Given the description of an element on the screen output the (x, y) to click on. 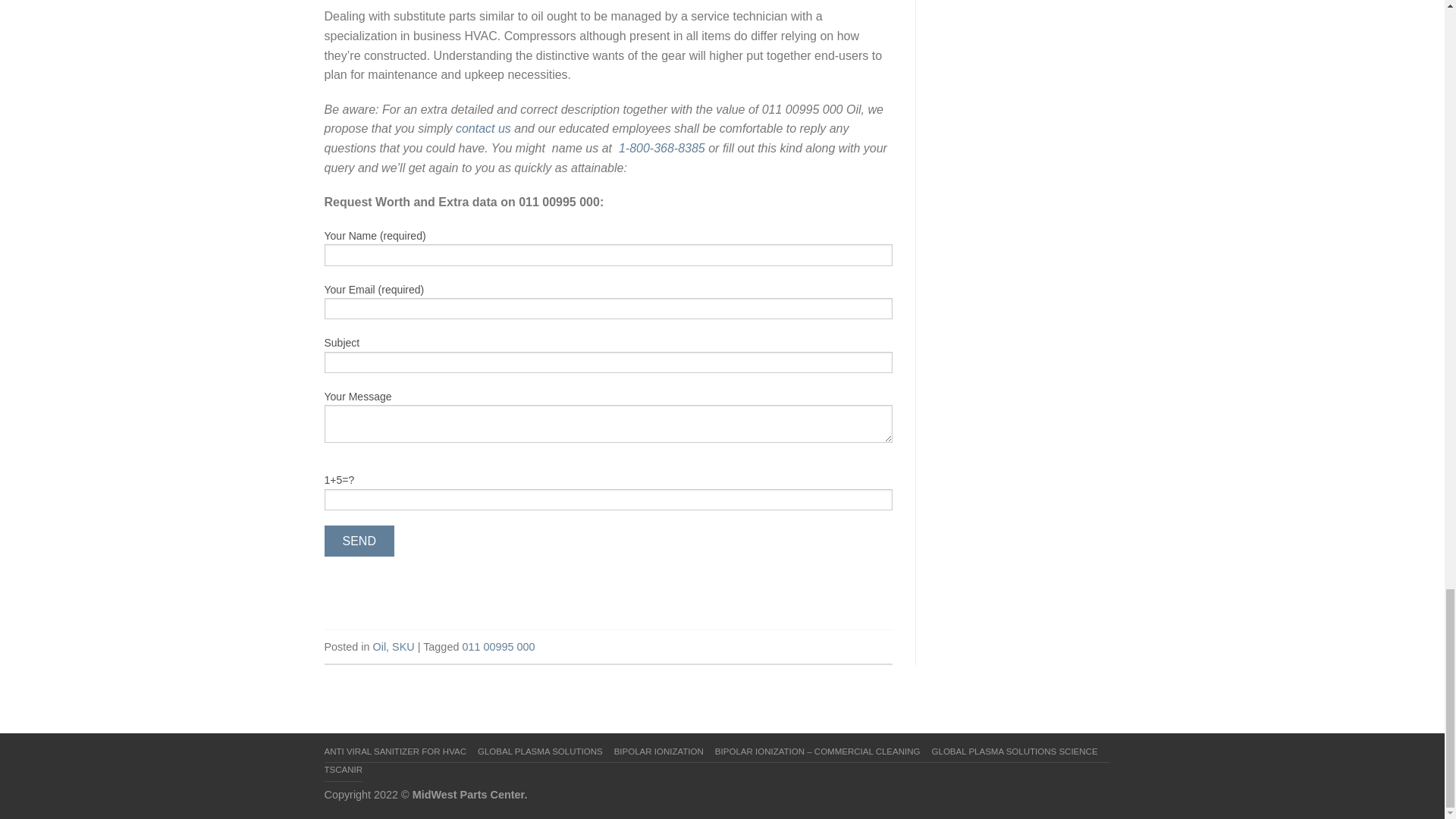
Send (359, 540)
